Given the description of an element on the screen output the (x, y) to click on. 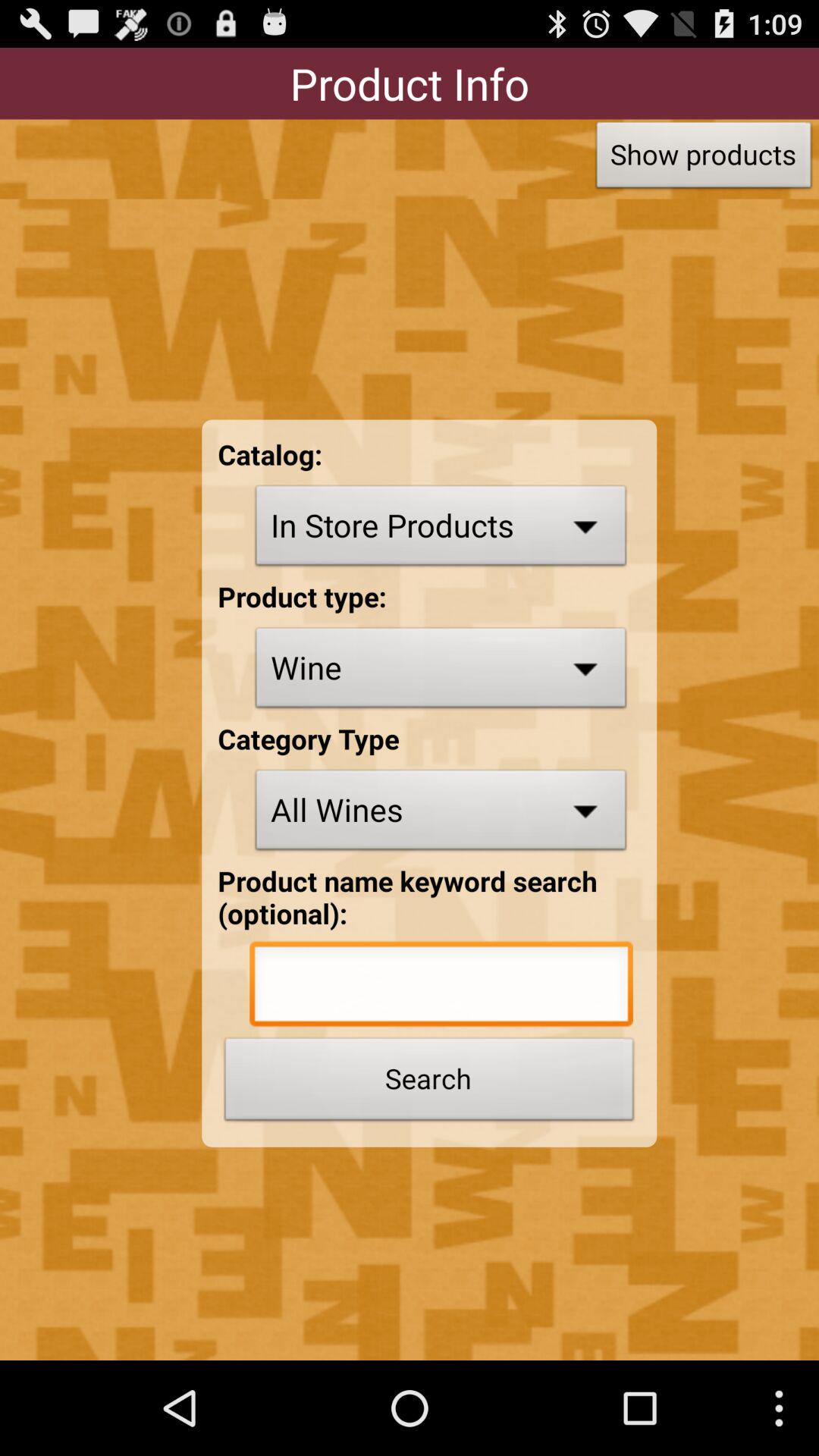
enter keyword (441, 987)
